Given the description of an element on the screen output the (x, y) to click on. 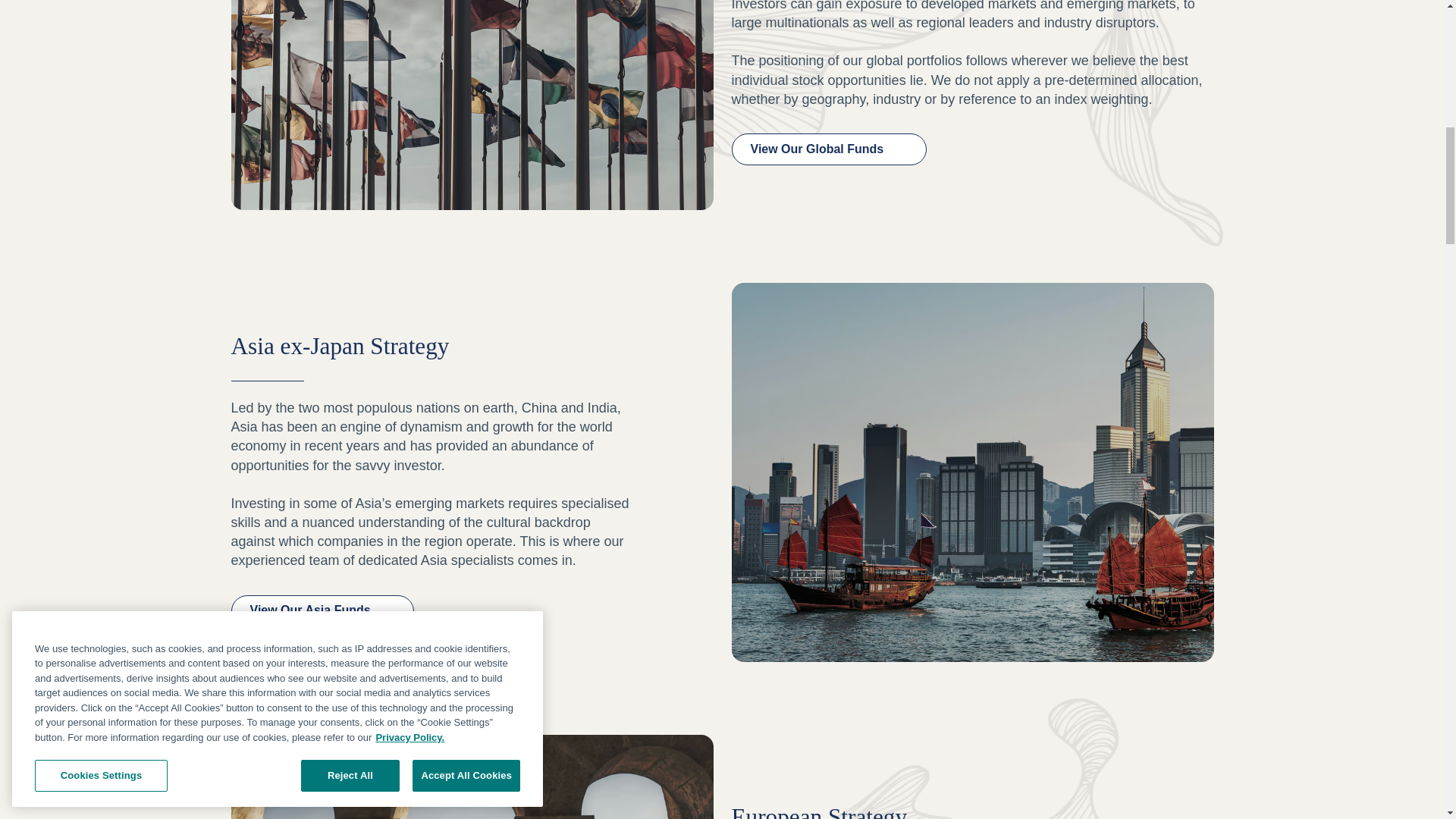
European Strategy (471, 776)
European Strategy (905, 758)
Global Strategy (471, 104)
